Given the description of an element on the screen output the (x, y) to click on. 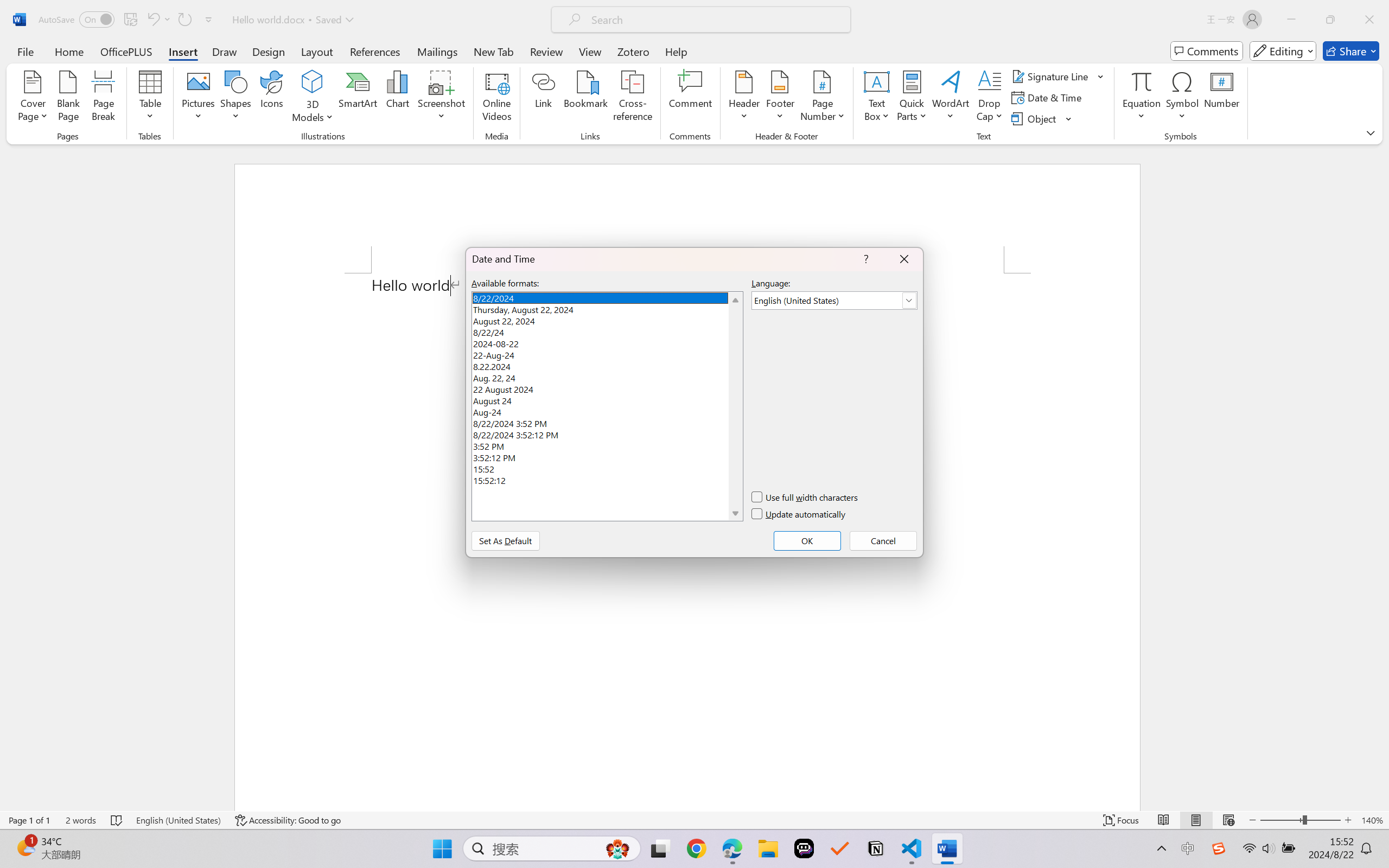
Update automatically (799, 513)
Table (149, 97)
15:52 (606, 467)
Cross-reference... (632, 97)
AutomationID: BadgeAnchorLargeTicker (24, 847)
Can't Undo (152, 19)
Language English (United States) (178, 819)
Zoom (1300, 819)
Minimize (1291, 19)
Insert (182, 51)
